Given the description of an element on the screen output the (x, y) to click on. 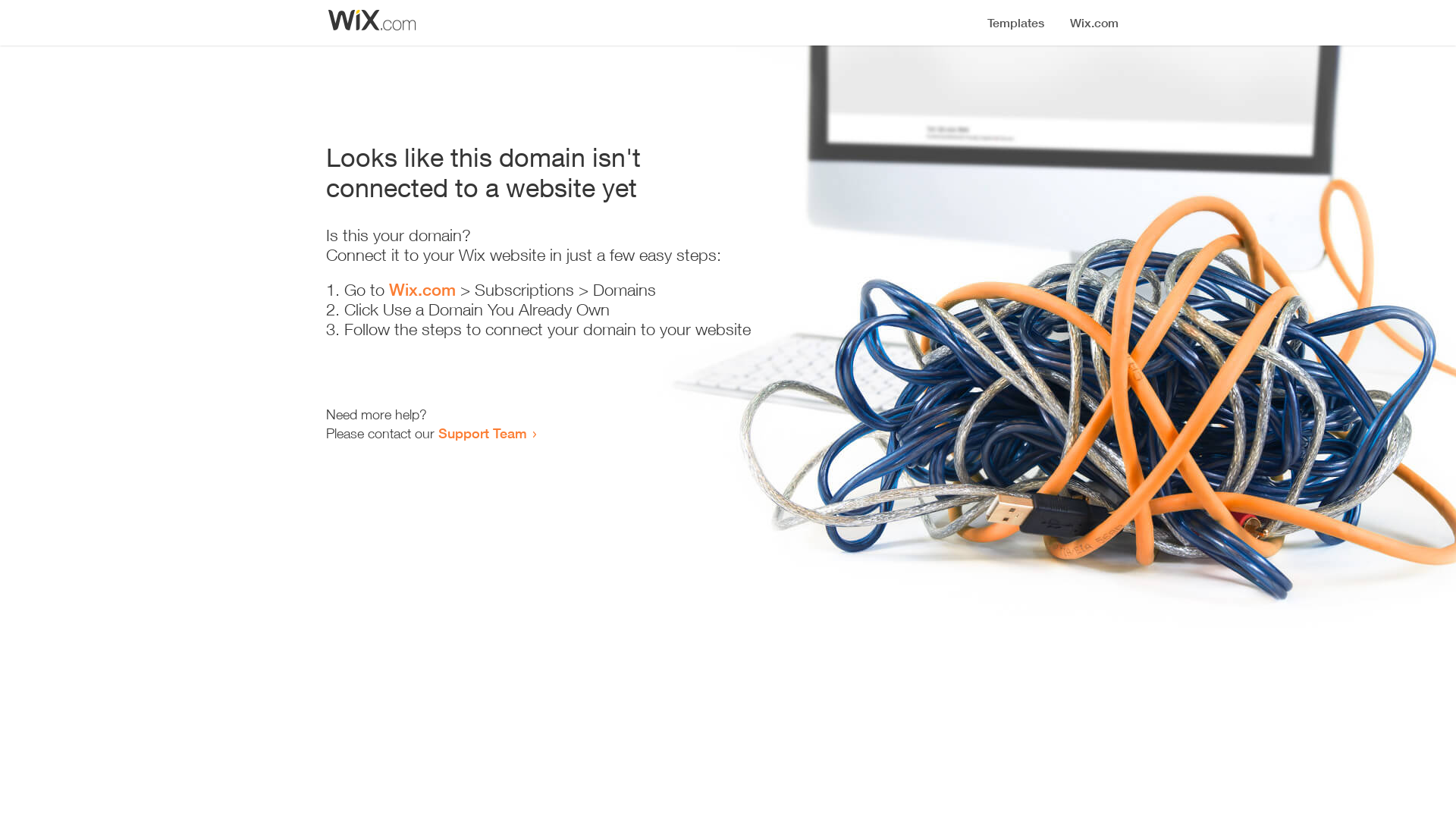
Wix.com Element type: text (422, 289)
Support Team Element type: text (482, 432)
